Given the description of an element on the screen output the (x, y) to click on. 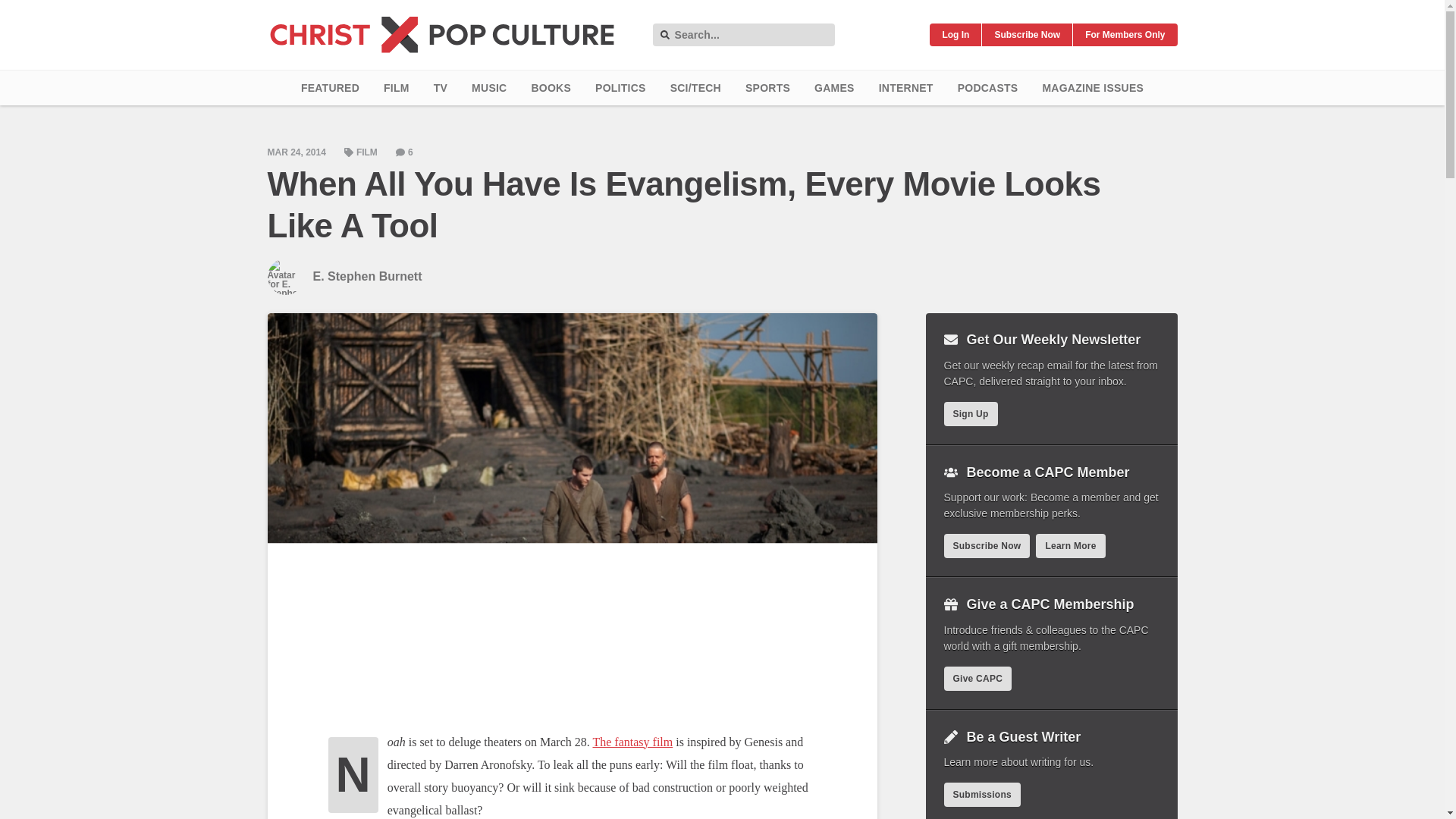
TV (441, 87)
MAGAZINE ISSUES (1092, 87)
GAMES (834, 87)
BOOKS (550, 87)
6 (404, 152)
SPORTS (767, 87)
POLITICS (620, 87)
PODCASTS (987, 87)
FEATURED (329, 87)
For Members Only (1124, 34)
